Given the description of an element on the screen output the (x, y) to click on. 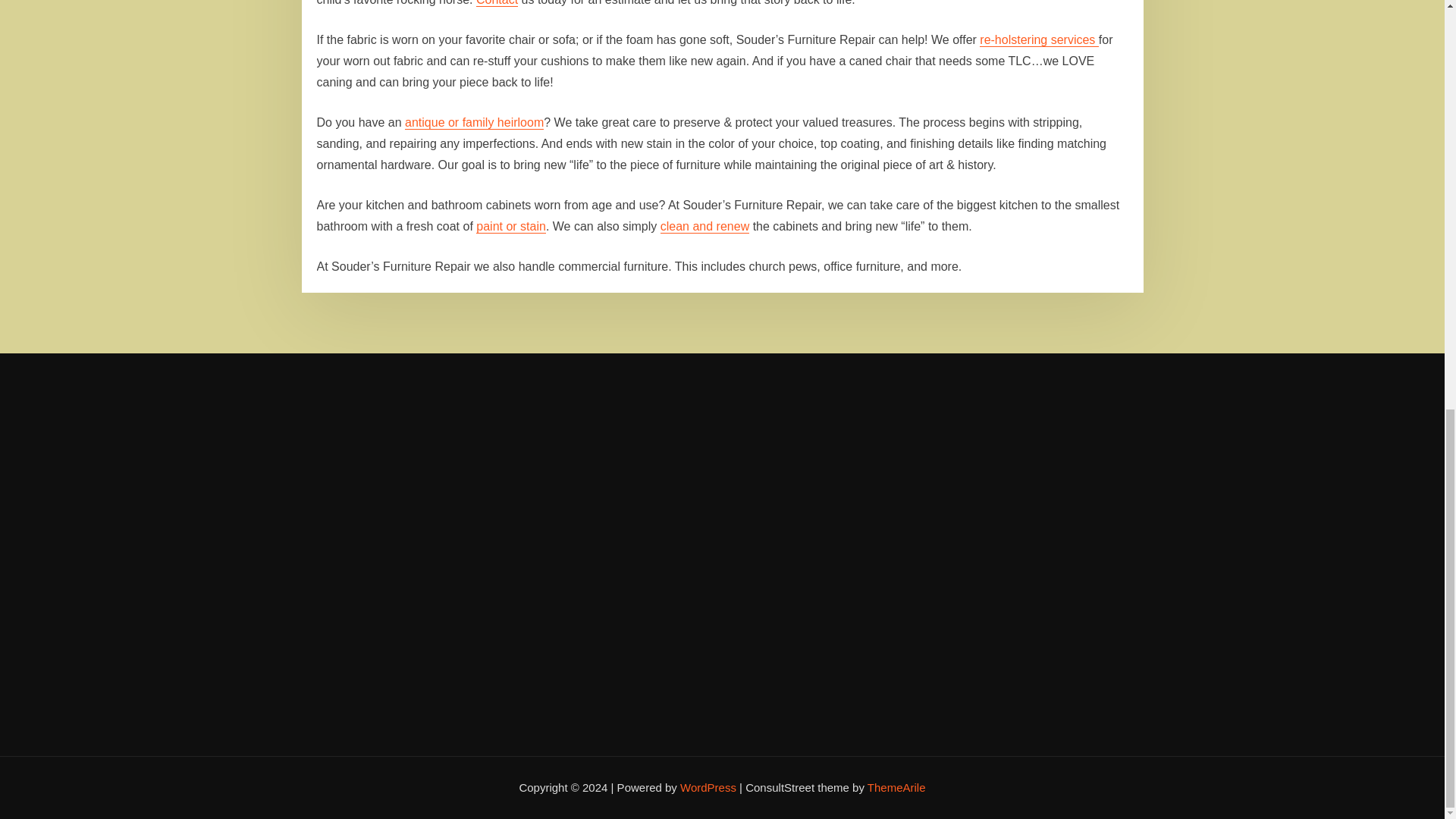
clean and renew (705, 226)
Contact (497, 2)
antique or family heirloom (473, 122)
paint or stain (511, 226)
ThemeArile (896, 787)
re-holstering services (1039, 39)
WordPress (707, 787)
